Given the description of an element on the screen output the (x, y) to click on. 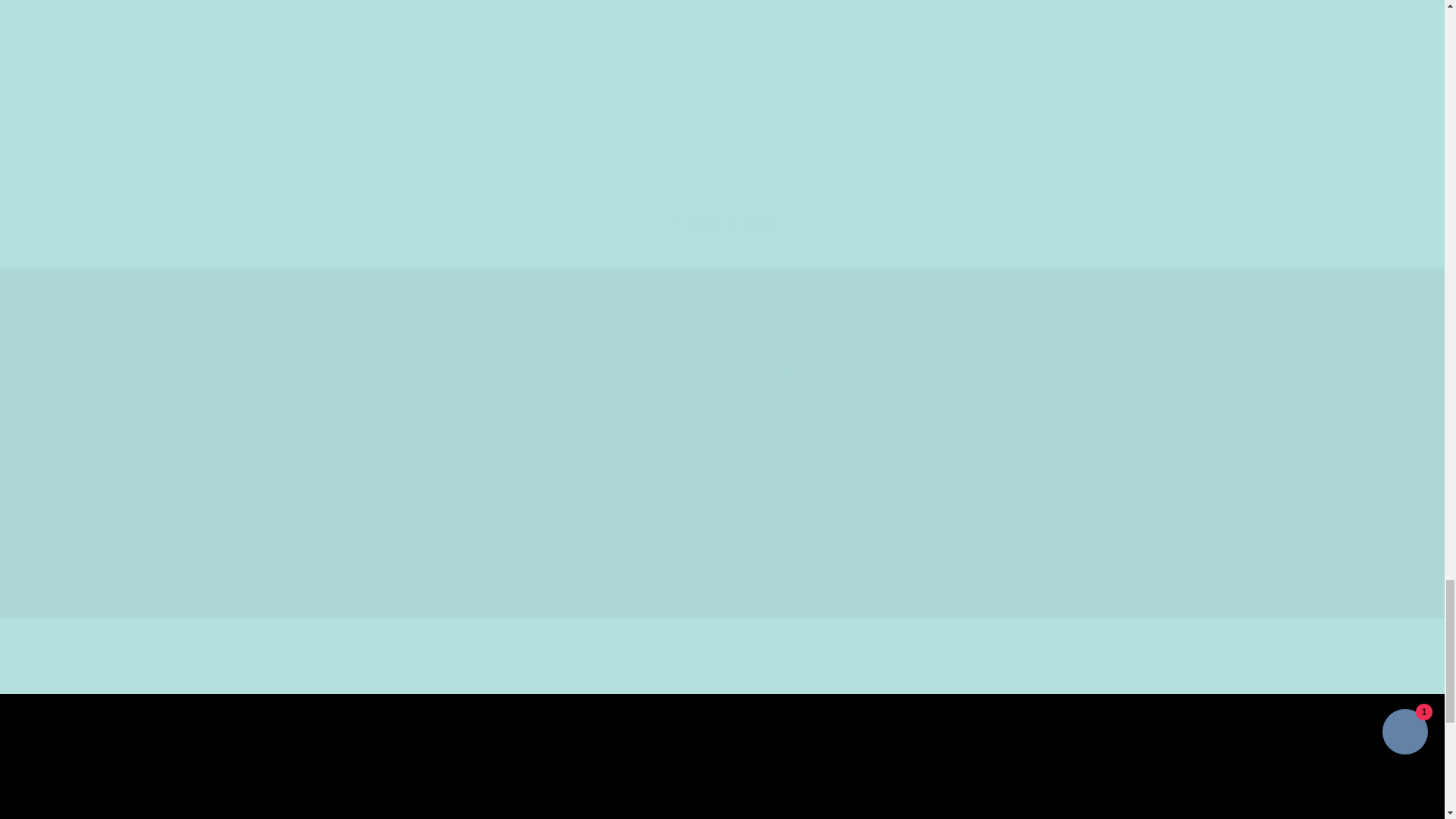
Post comment (484, 580)
